Given the description of an element on the screen output the (x, y) to click on. 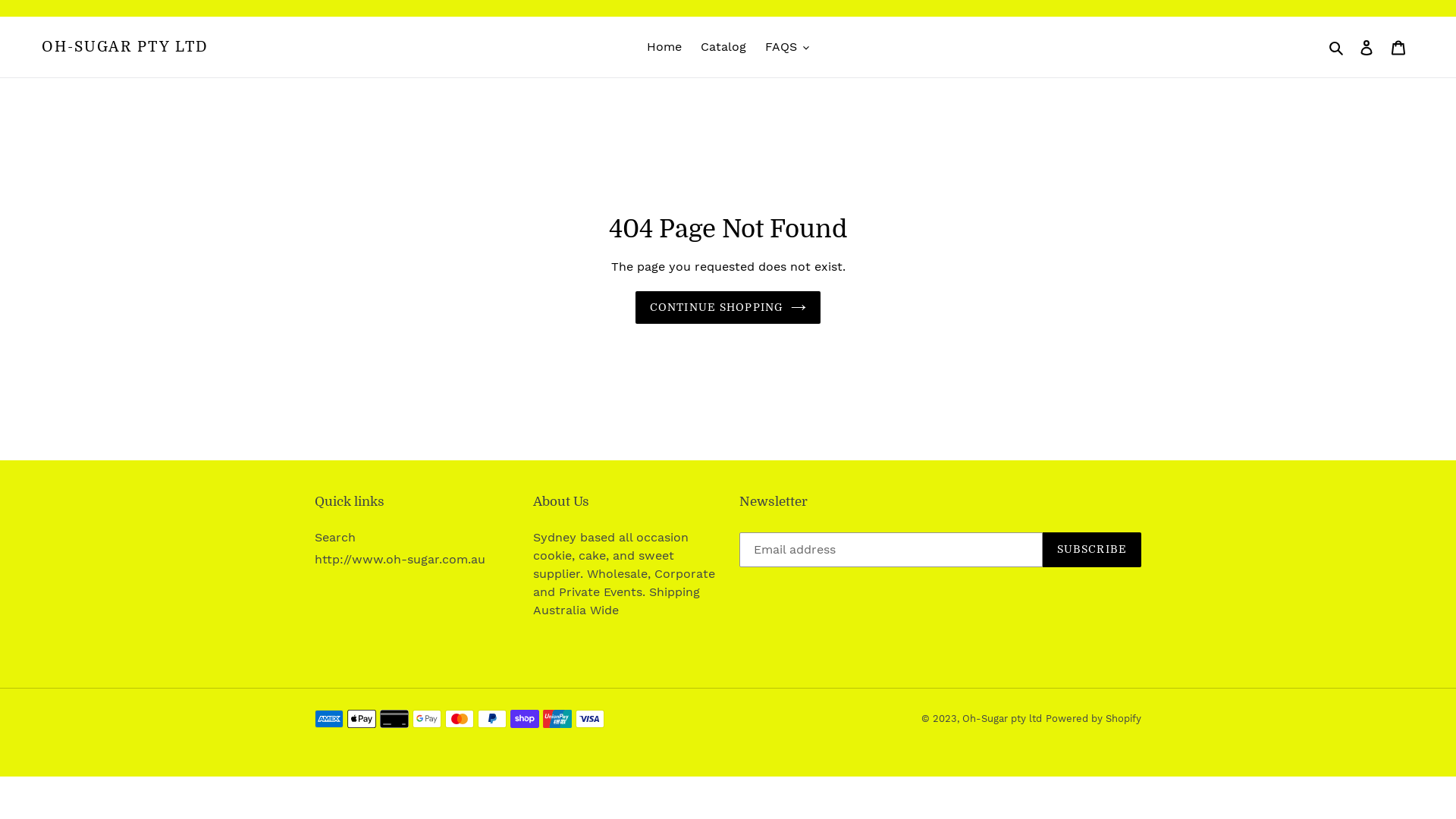
OH-SUGAR PTY LTD Element type: text (124, 47)
Cart Element type: text (1398, 46)
Home Element type: text (664, 46)
Search Element type: text (334, 537)
CONTINUE SHOPPING Element type: text (727, 307)
Powered by Shopify Element type: text (1093, 718)
FAQS Element type: text (786, 46)
Catalog Element type: text (723, 46)
Oh-Sugar pty ltd Element type: text (1001, 718)
Log in Element type: text (1366, 46)
SUBSCRIBE Element type: text (1091, 549)
http://www.oh-sugar.com.au Element type: text (399, 559)
Search Element type: text (1337, 46)
